Given the description of an element on the screen output the (x, y) to click on. 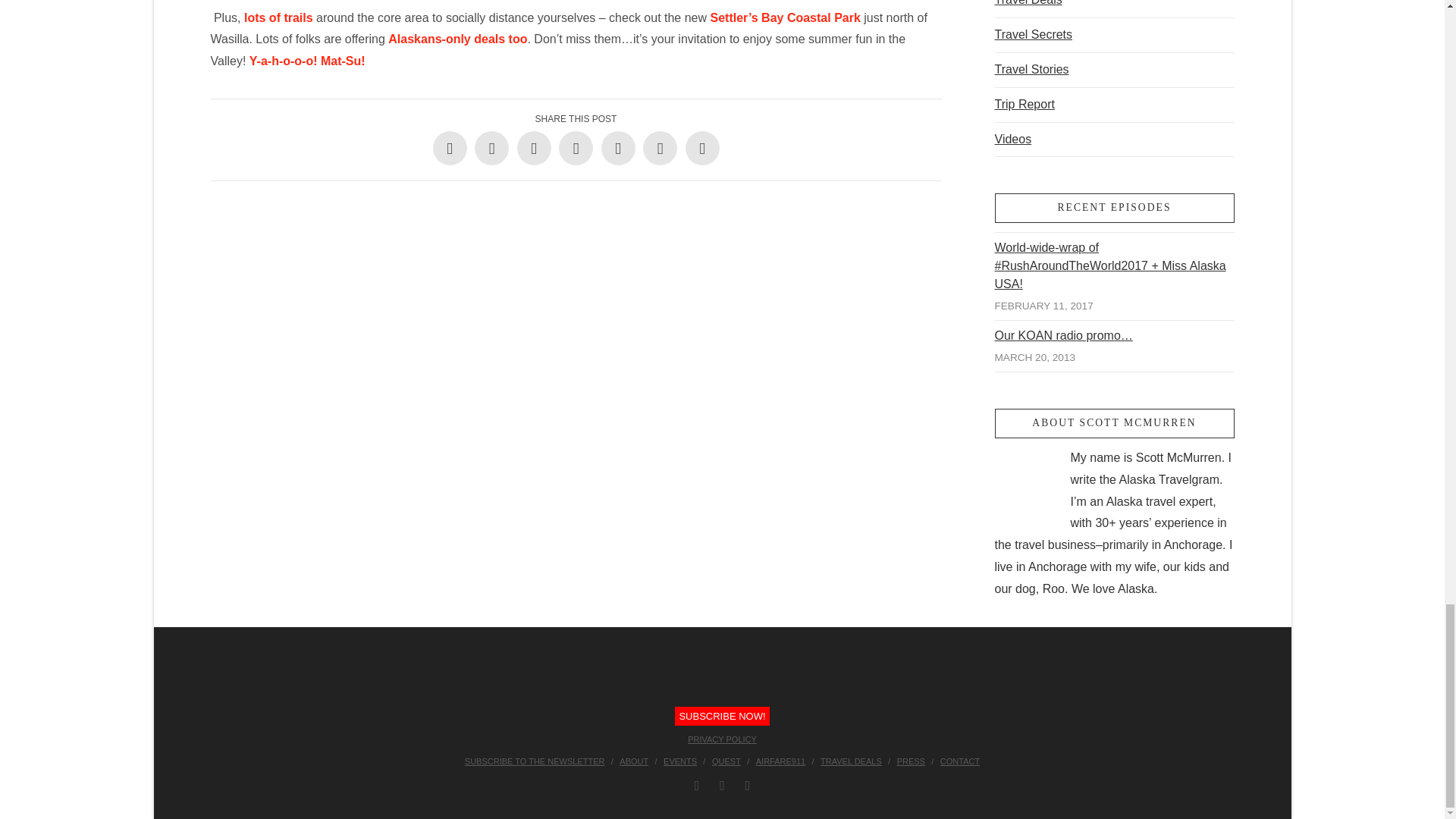
Alaskans-only deals too (457, 38)
lots of trails (279, 17)
Y-a-h-o-o-o! Mat-Su! (306, 60)
